Given the description of an element on the screen output the (x, y) to click on. 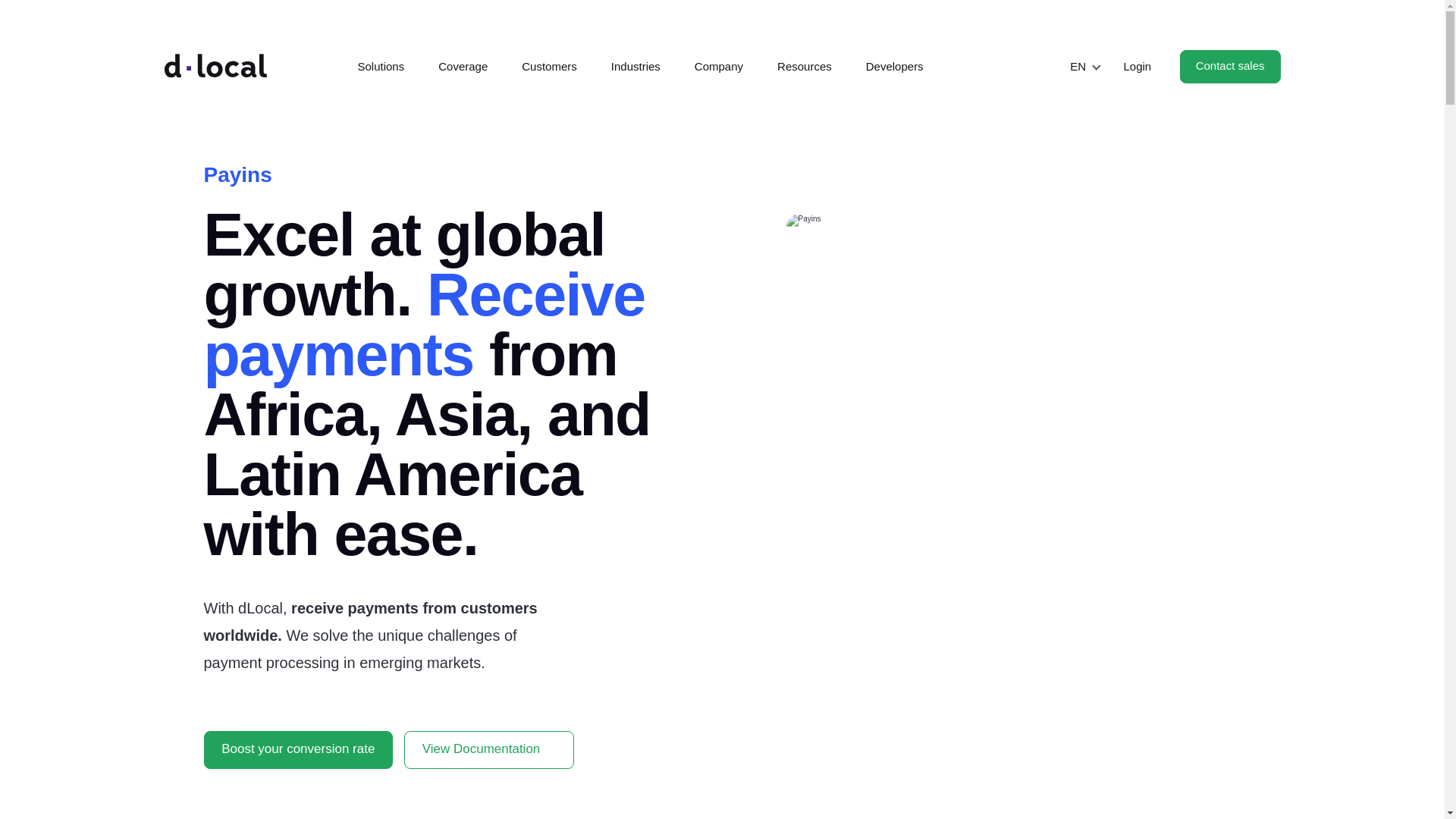
Developers (894, 66)
dLocal: Your global payments partner across emerging markets (214, 65)
Solutions (381, 66)
Coverage (462, 66)
Contact sales (1230, 66)
Login (1136, 66)
Customers (548, 66)
Industries (636, 66)
Company (718, 66)
